Given the description of an element on the screen output the (x, y) to click on. 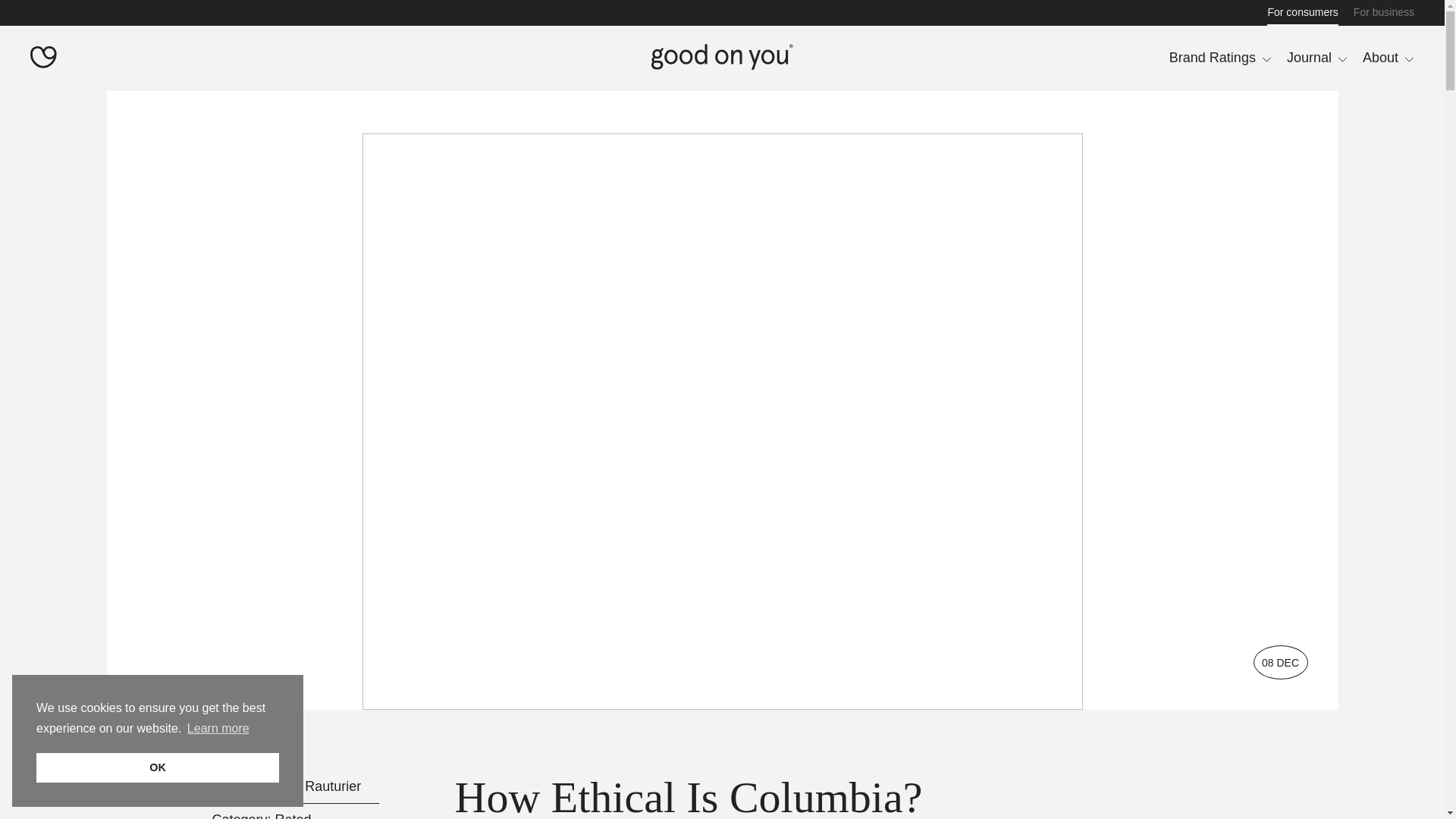
About (1387, 57)
Brand Ratings (1220, 57)
For consumers (1302, 12)
Learn more (217, 728)
For business (1383, 12)
Journal (1317, 57)
OK (157, 767)
